Given the description of an element on the screen output the (x, y) to click on. 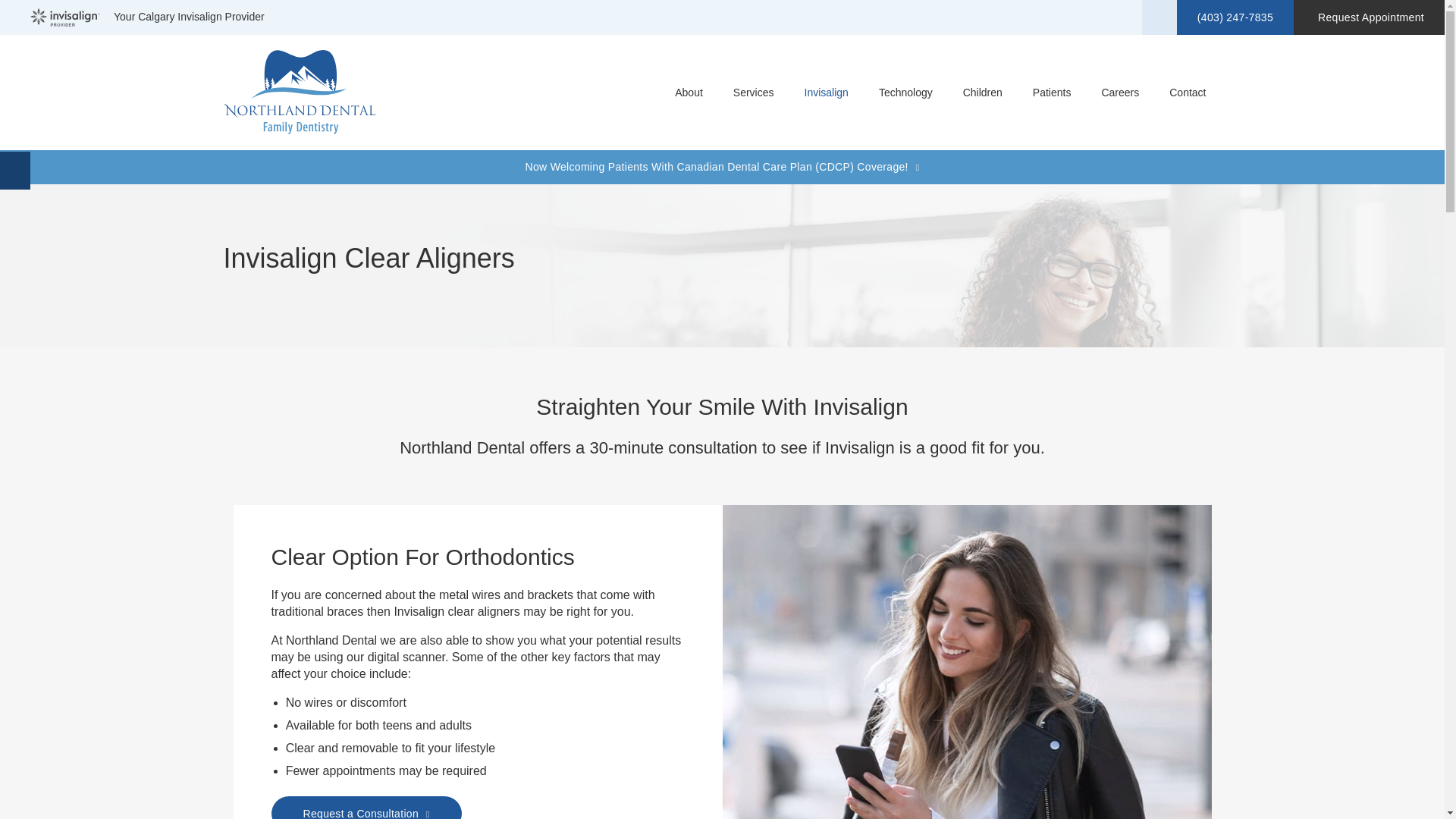
Your Calgary Invisalign Provider (147, 17)
Open Search Box (1158, 17)
